Given the description of an element on the screen output the (x, y) to click on. 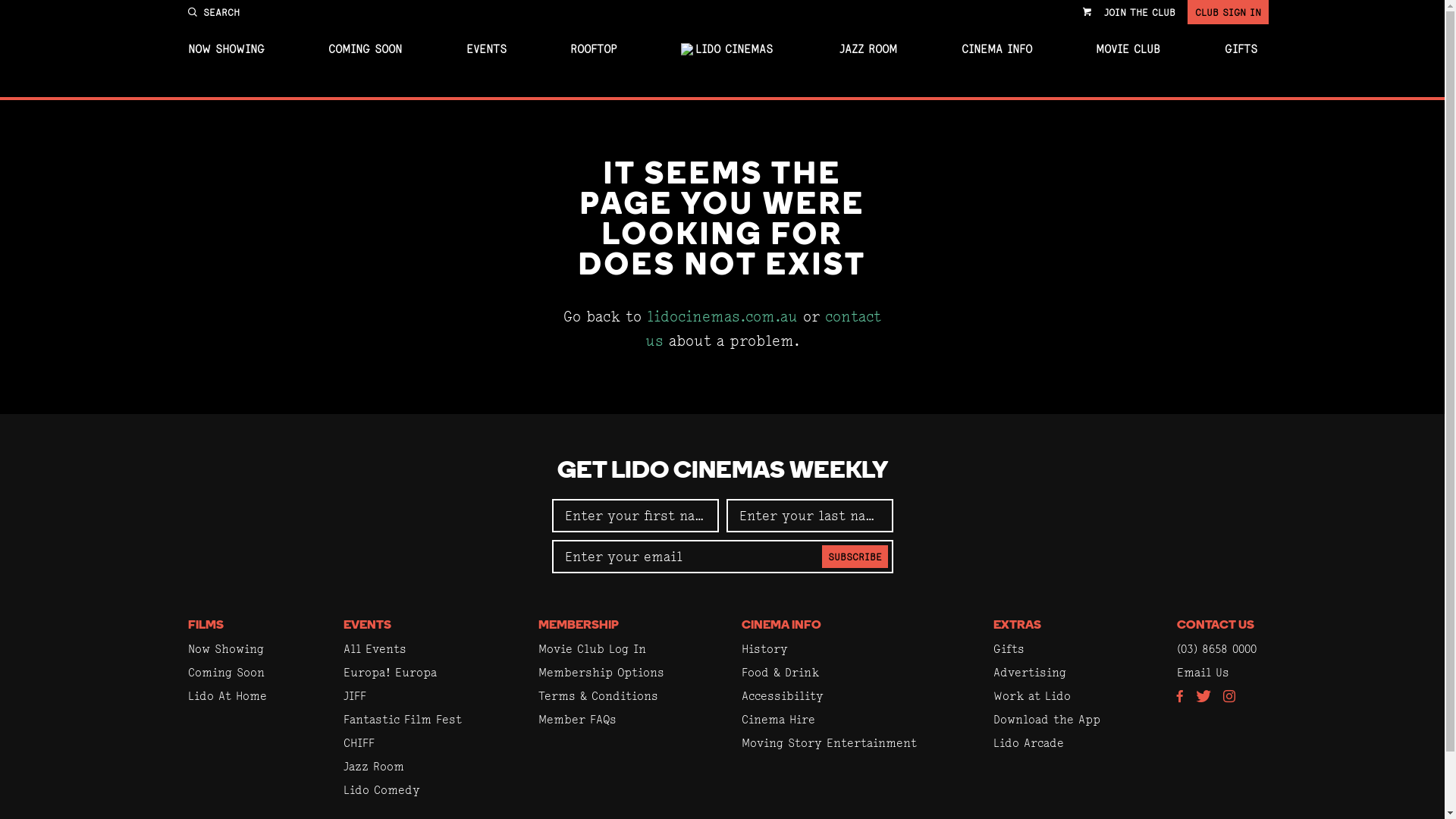
JIFF Element type: text (354, 695)
VIEW CART Element type: text (1087, 12)
Accessibility Element type: text (782, 695)
Download the App Element type: text (1046, 719)
contact us Element type: text (763, 328)
EVENTS Element type: text (367, 625)
GIFTS Element type: text (1239, 49)
CHIFF Element type: text (358, 742)
Email Us Element type: text (1202, 672)
Coming Soon Element type: text (226, 672)
All Events Element type: text (374, 648)
JOIN THE CLUB Element type: text (1139, 12)
ROOFTOP Element type: text (593, 49)
Moving Story Entertainment Element type: text (828, 742)
COMING SOON Element type: text (364, 49)
SUBSCRIBE Element type: text (855, 556)
Work at Lido Element type: text (1031, 695)
MOVIE CLUB Element type: text (1127, 49)
Gifts Element type: text (1008, 648)
MEMBERSHIP Element type: text (578, 625)
Advertising Element type: text (1029, 672)
Jazz Room Element type: text (373, 766)
SEARCH Element type: text (213, 12)
Fantastic Film Fest Element type: text (402, 719)
Lido Arcade Element type: text (1028, 742)
Membership Options Element type: text (601, 672)
JAZZ ROOM Element type: text (868, 49)
lidocinemas.com.au Element type: text (721, 316)
Twitter Element type: text (1203, 697)
CLUB SIGN IN Element type: text (1227, 12)
Facebook Element type: text (1179, 697)
Instagram Element type: text (1229, 697)
CONTACT US Element type: text (1215, 625)
Terms & Conditions Element type: text (598, 695)
CINEMA INFO Element type: text (781, 625)
Cinema Hire Element type: text (778, 719)
History Element type: text (764, 648)
EXTRAS Element type: text (1017, 625)
FILMS Element type: text (205, 625)
Lido Comedy Element type: text (381, 789)
EVENTS Element type: text (485, 49)
Europa! Europa Element type: text (389, 672)
CINEMA INFO Element type: text (996, 49)
Lido At Home Element type: text (227, 695)
Member FAQs Element type: text (577, 719)
Food & Drink Element type: text (780, 672)
Now Showing Element type: text (225, 648)
Movie Club Log In Element type: text (592, 648)
NOW SHOWING Element type: text (226, 49)
